Given the description of an element on the screen output the (x, y) to click on. 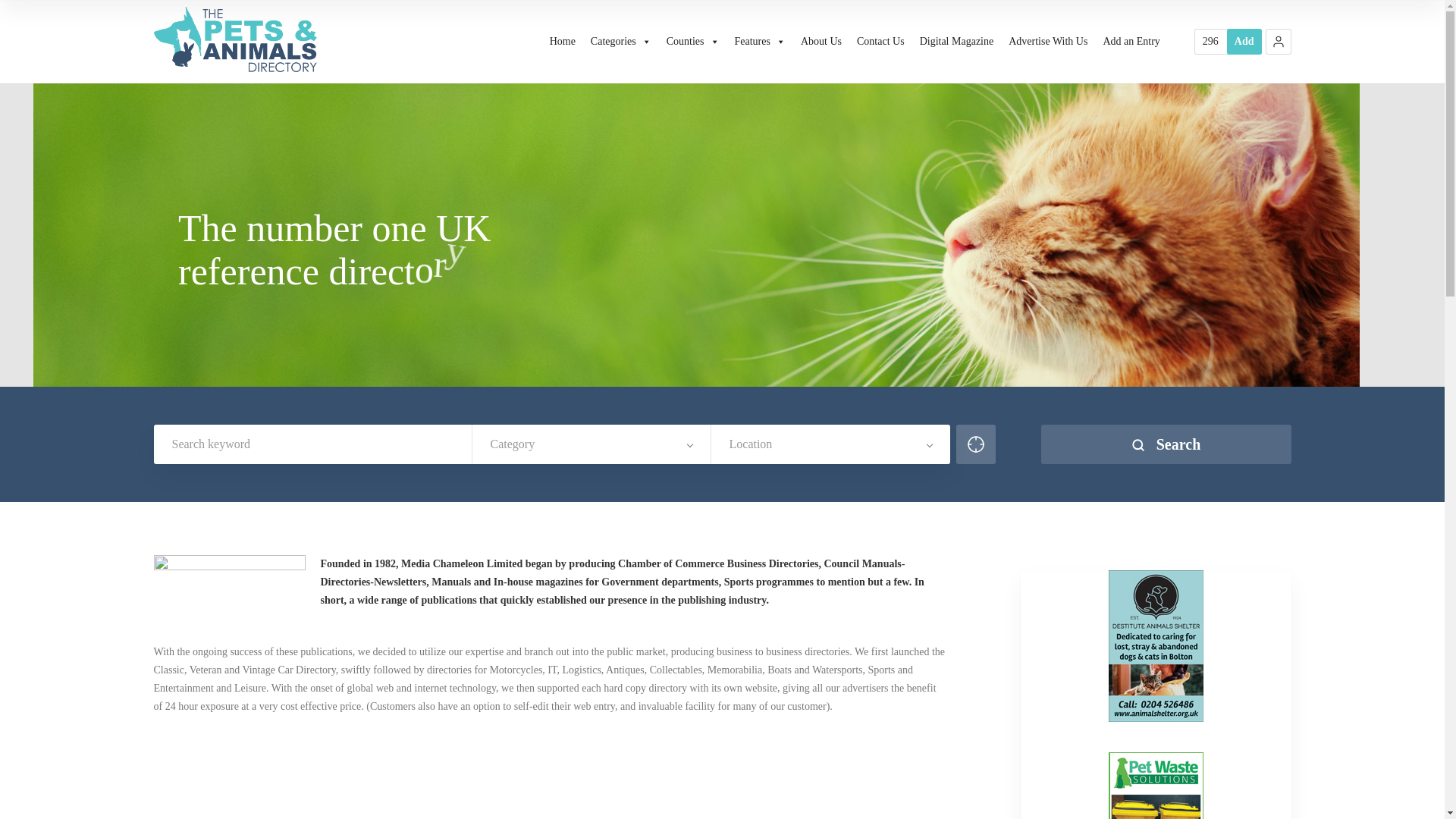
Search (1165, 444)
Resources (1210, 41)
Pets and Animals Directory Portal (234, 39)
Categories (621, 41)
Search (1165, 444)
